Given the description of an element on the screen output the (x, y) to click on. 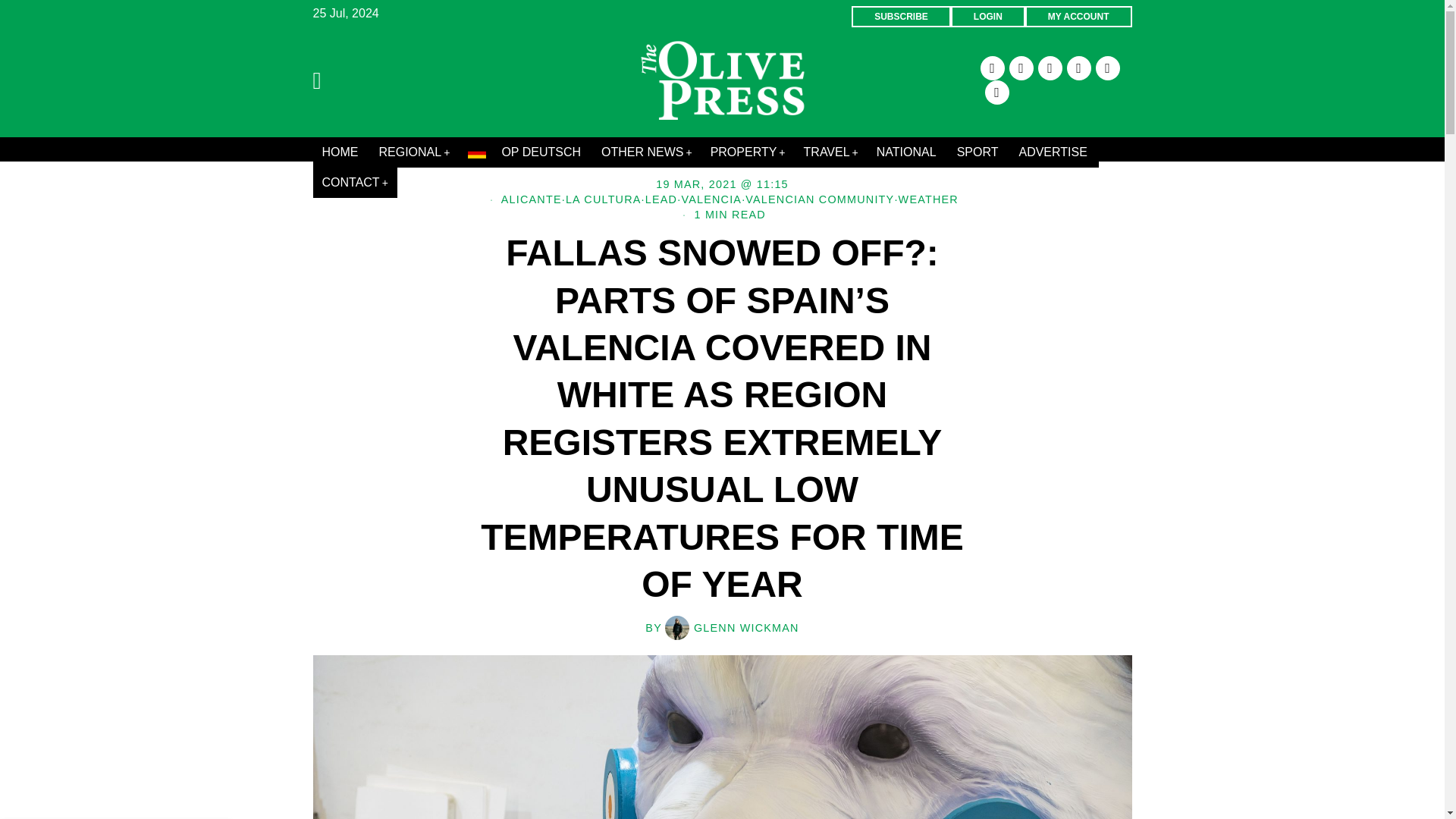
REGIONAL (414, 152)
OTHER NEWS (646, 152)
HOME (341, 152)
MY ACCOUNT (1078, 16)
SUBSCRIBE (900, 16)
19 Mar, 2021 11:00:15 (722, 183)
LOGIN (987, 16)
OP DEUTSCH (525, 152)
